Given the description of an element on the screen output the (x, y) to click on. 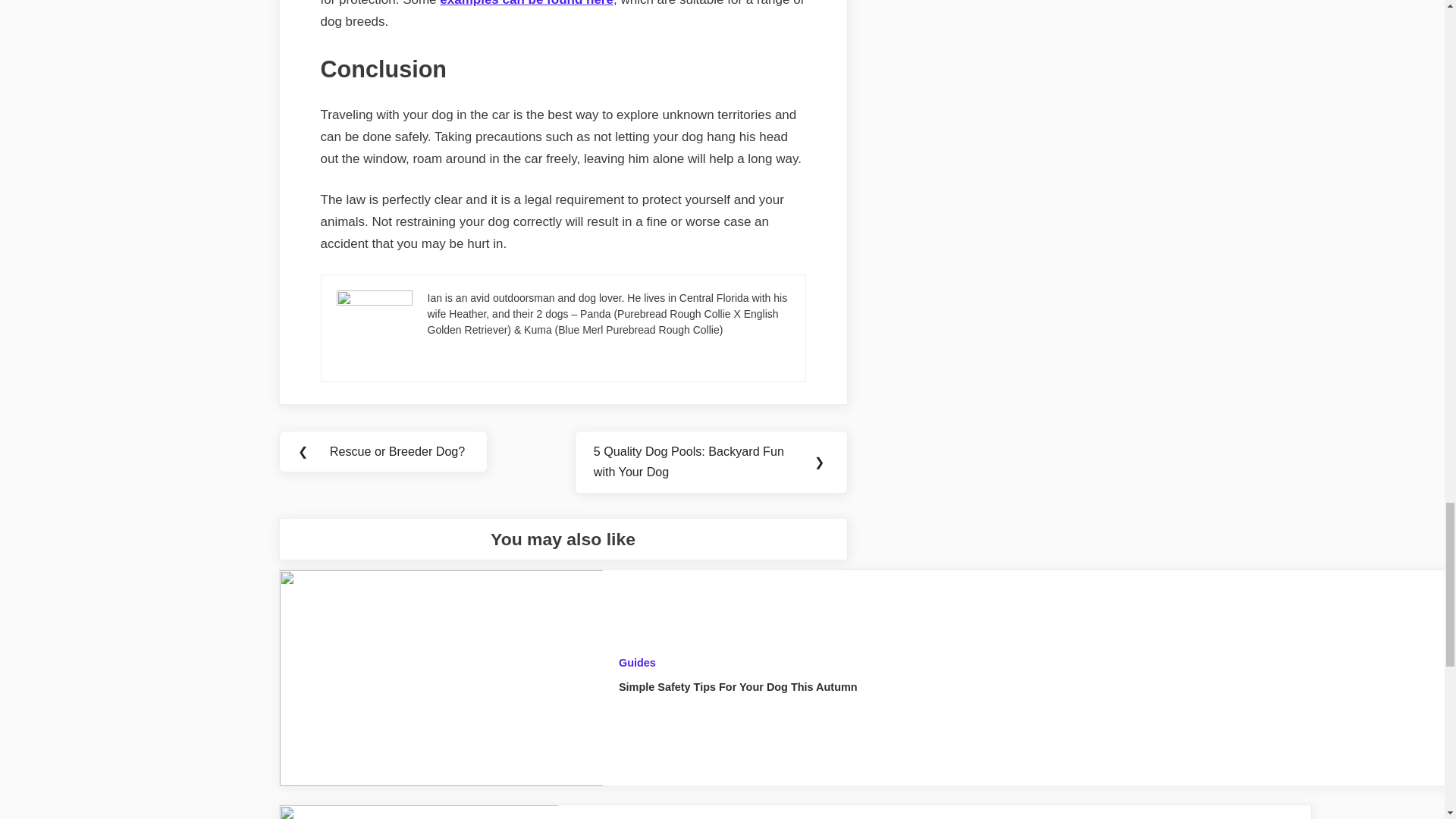
Guides (637, 662)
Simple Safety Tips For Your Dog This Autumn (737, 686)
examples can be found here (525, 3)
